Given the description of an element on the screen output the (x, y) to click on. 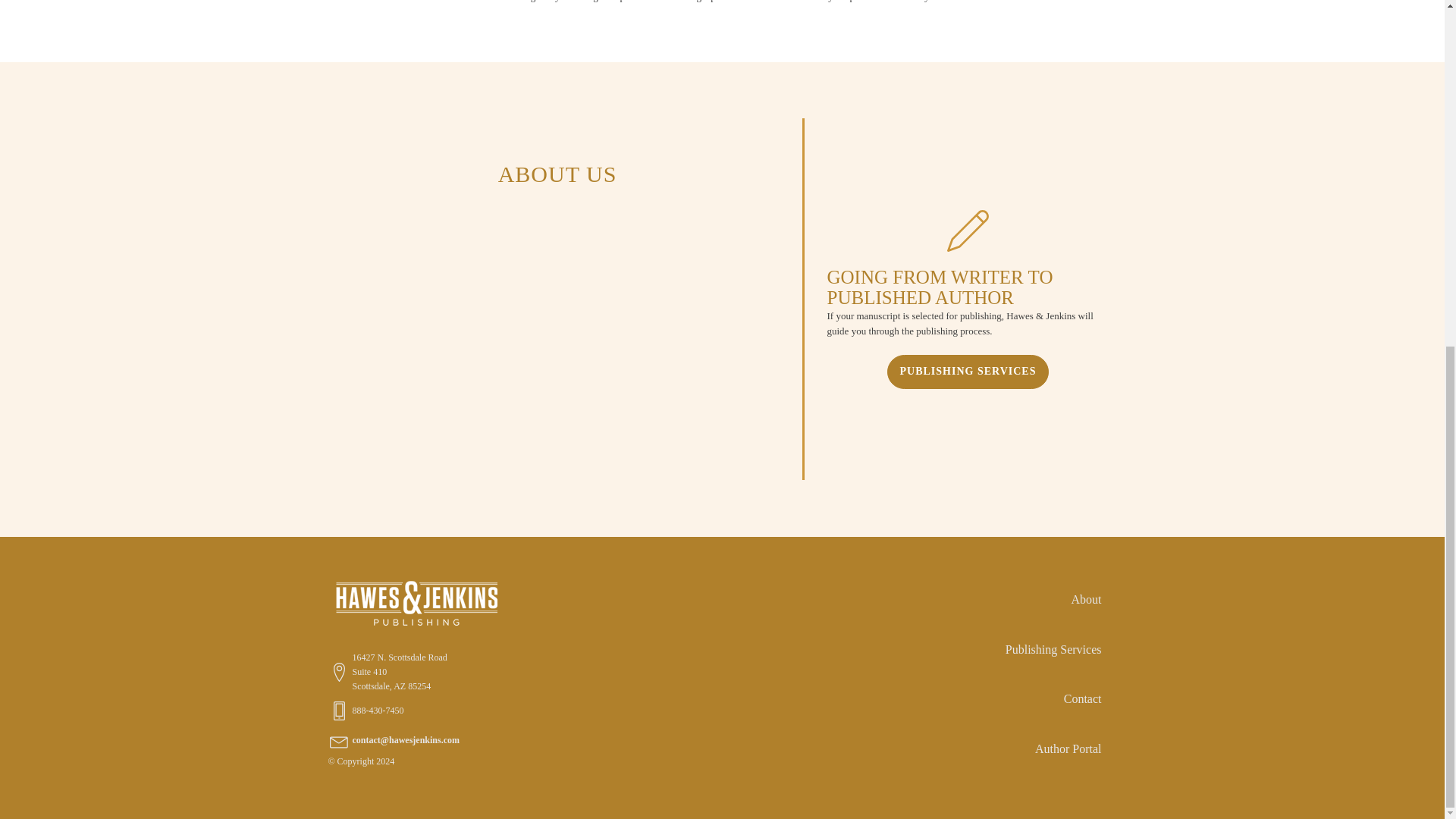
About (1053, 599)
Contact (1053, 698)
Publishing Services (1053, 649)
PUBLISHING SERVICES (967, 371)
Author Portal (1053, 748)
